Given the description of an element on the screen output the (x, y) to click on. 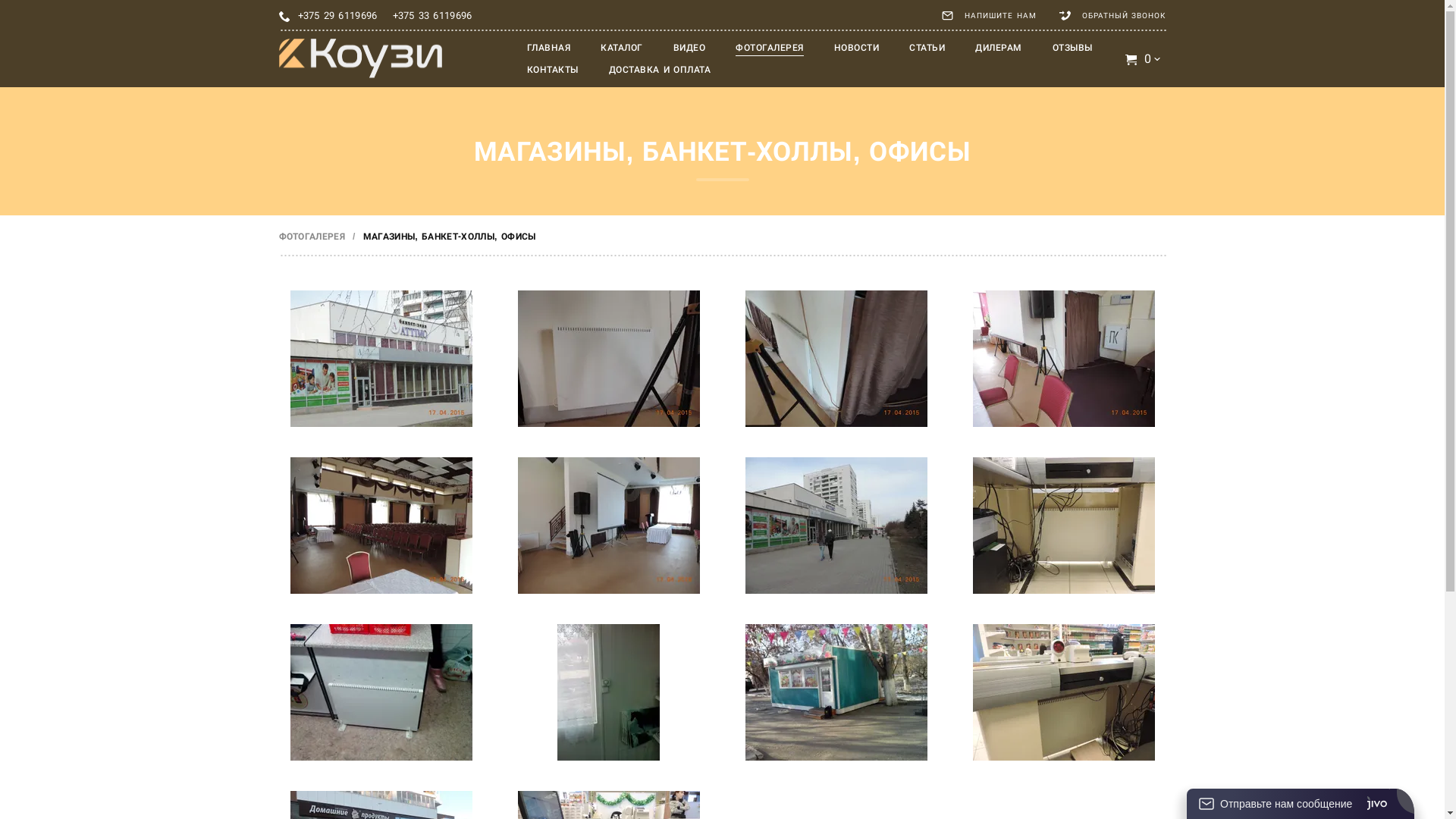
+375 33 6119696 Element type: text (432, 15)
+375 29 6119696 Element type: text (336, 15)
0 Element type: text (1144, 59)
